Given the description of an element on the screen output the (x, y) to click on. 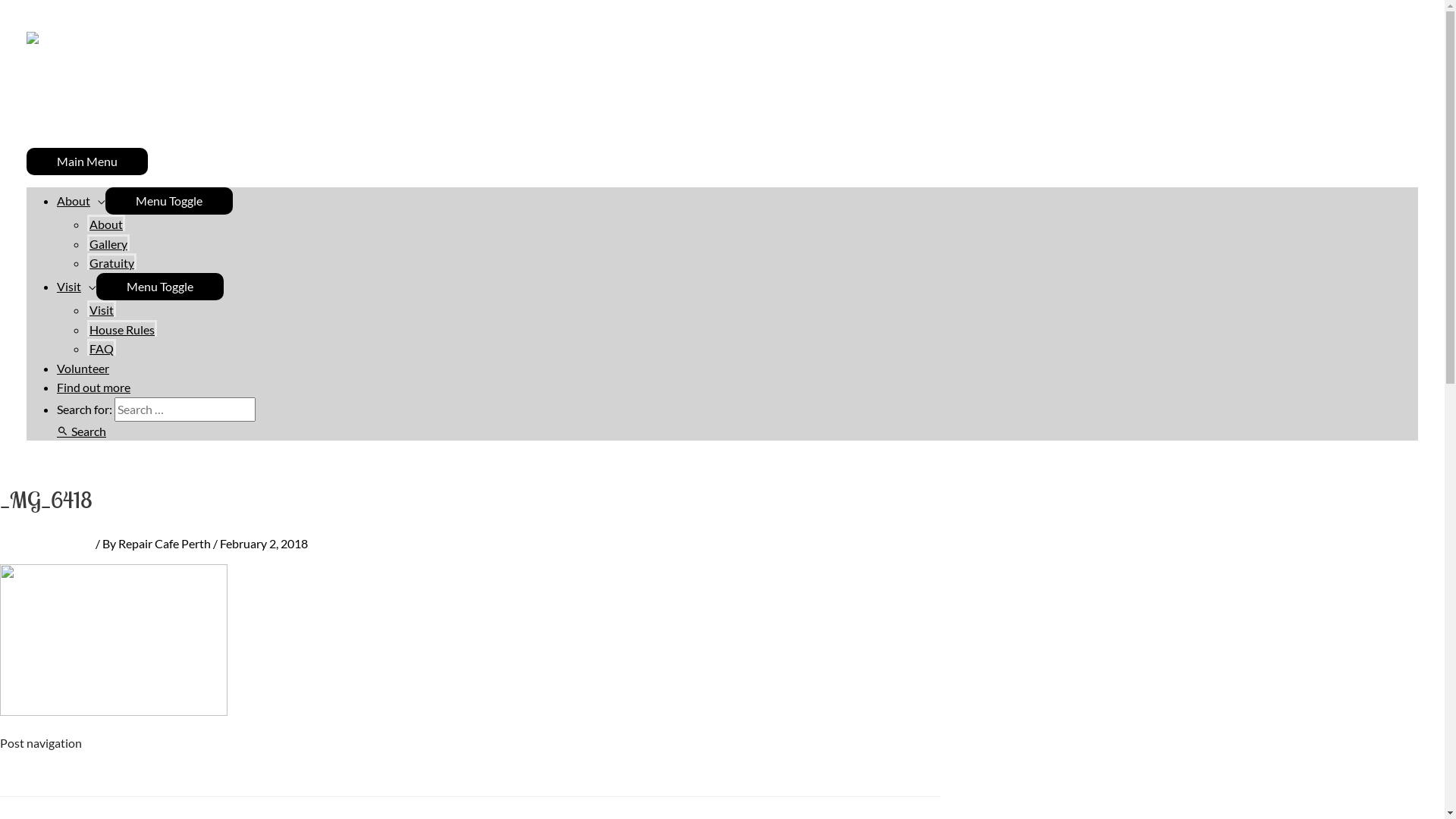
Repair Cafe Perth Element type: text (100, 137)
Volunteer Element type: text (82, 367)
Search Element type: text (81, 430)
Visit Element type: text (101, 308)
Gallery Element type: text (108, 242)
Leave a Comment Element type: text (46, 543)
Skip to content Element type: text (39, 9)
House Rules Element type: text (121, 328)
Visit Element type: text (76, 286)
About Element type: text (106, 222)
Gratuity Element type: text (111, 261)
Find out more Element type: text (93, 386)
Main Menu Element type: text (86, 161)
FAQ Element type: text (101, 346)
Menu Toggle Element type: text (159, 286)
Repair Cafe Perth Element type: text (165, 543)
About Element type: text (80, 200)
Menu Toggle Element type: text (168, 200)
